Given the description of an element on the screen output the (x, y) to click on. 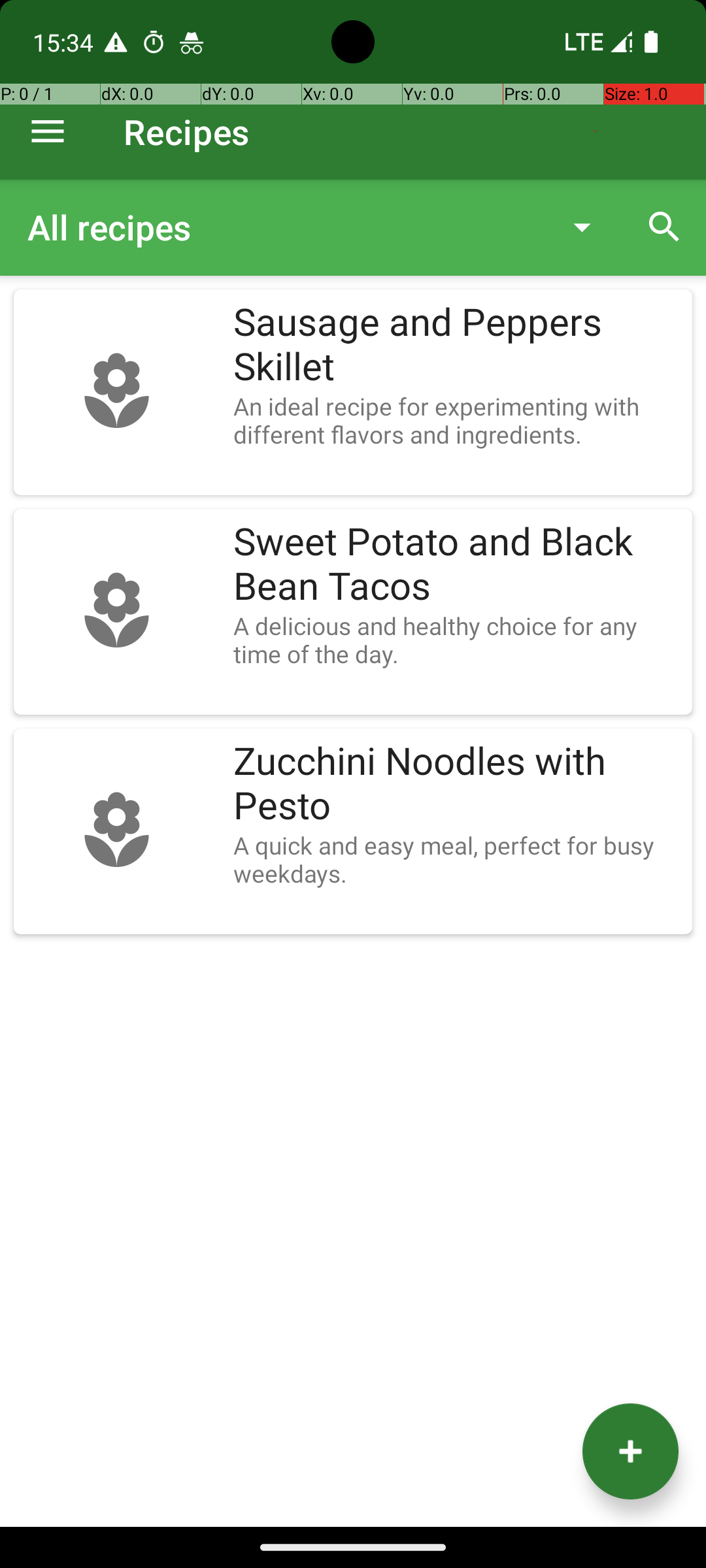
Sausage and Peppers Skillet Element type: android.widget.TextView (455, 344)
Sweet Potato and Black Bean Tacos Element type: android.widget.TextView (455, 564)
Zucchini Noodles with Pesto Element type: android.widget.TextView (455, 783)
